Given the description of an element on the screen output the (x, y) to click on. 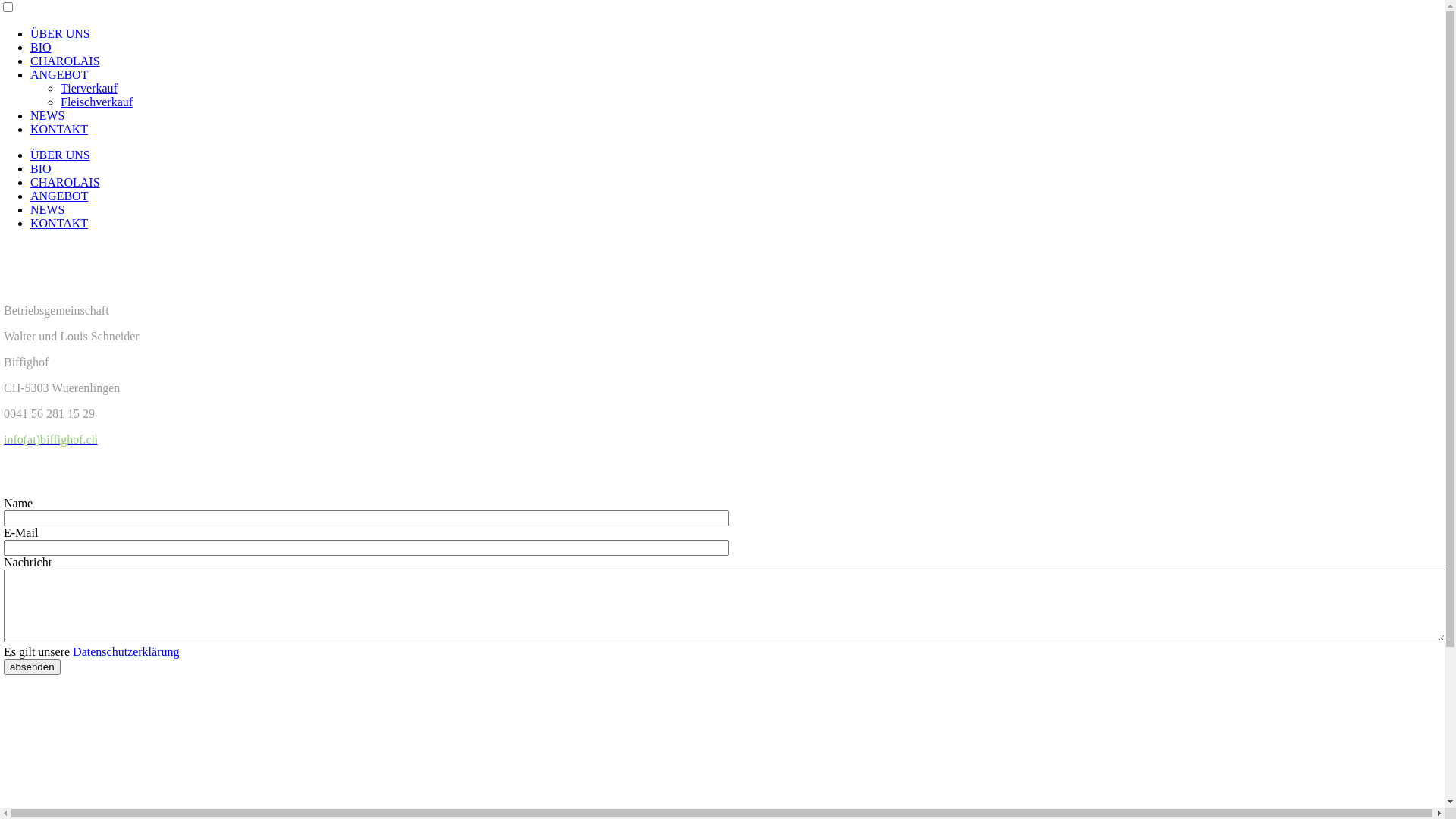
ANGEBOT Element type: text (58, 195)
NEWS Element type: text (47, 209)
BIO Element type: text (40, 168)
absenden Element type: text (31, 666)
Fleischverkauf Element type: text (96, 101)
KONTAKT Element type: text (58, 222)
ANGEBOT Element type: text (58, 74)
KONTAKT Element type: text (58, 128)
info(at)biffighof.ch Element type: text (50, 439)
BIO Element type: text (40, 46)
Tierverkauf Element type: text (88, 87)
CHAROLAIS Element type: text (65, 60)
CHAROLAIS Element type: text (65, 181)
NEWS Element type: text (47, 115)
